Given the description of an element on the screen output the (x, y) to click on. 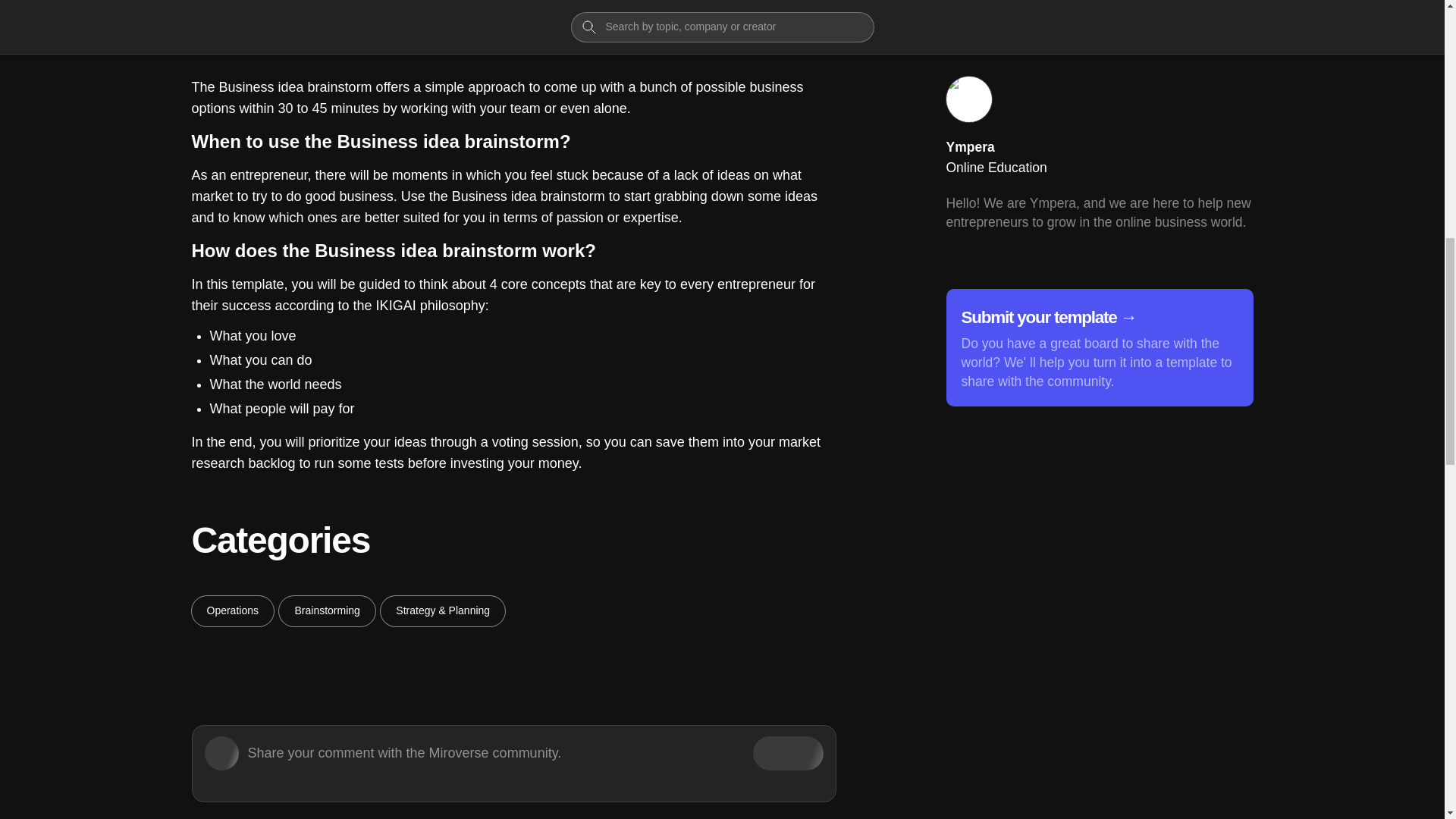
Report (1214, 26)
Brainstorming (326, 611)
Ympera (970, 146)
Operations (231, 611)
